Given the description of an element on the screen output the (x, y) to click on. 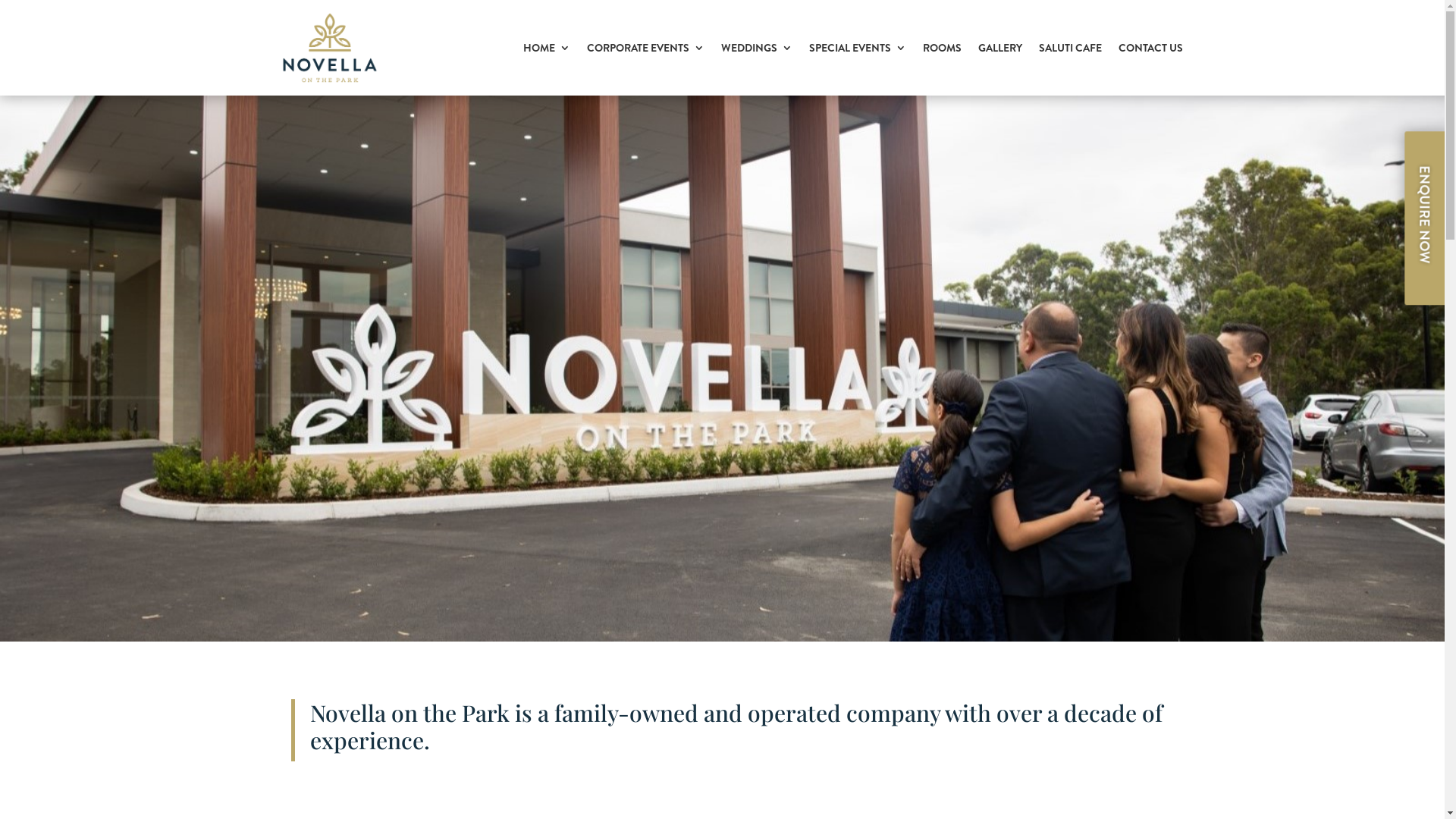
CONTACT US Element type: text (1150, 47)
HOME Element type: text (546, 47)
CORPORATE EVENTS Element type: text (645, 47)
SALUTI CAFE Element type: text (1069, 47)
SPECIAL EVENTS Element type: text (857, 47)
WEDDINGS Element type: text (756, 47)
GALLERY Element type: text (1000, 47)
ROOMS Element type: text (941, 47)
